Given the description of an element on the screen output the (x, y) to click on. 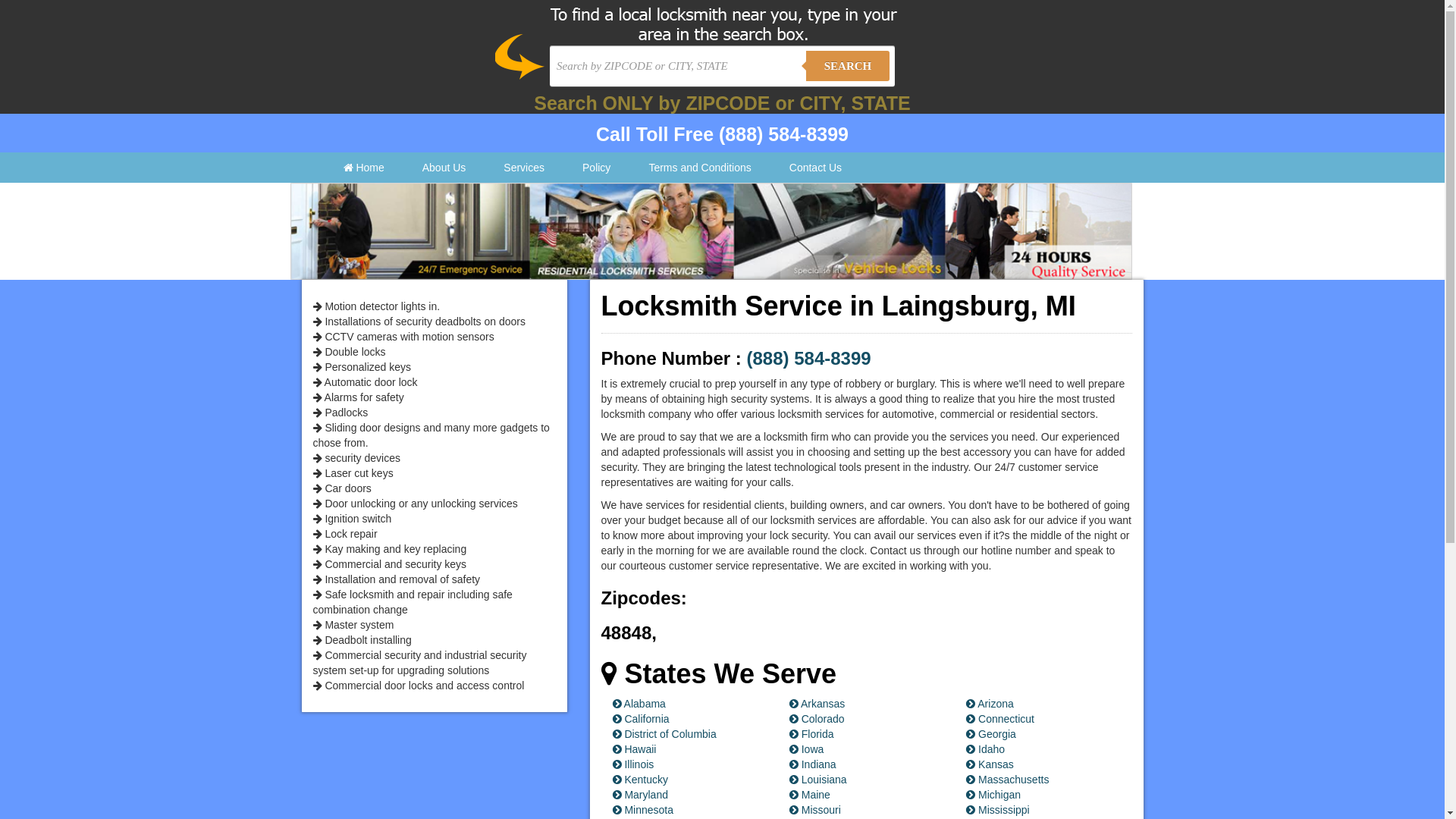
Terms and Conditions Element type: text (699, 167)
Louisiana Element type: text (818, 779)
Minnesota Element type: text (642, 809)
Massachusetts Element type: text (1007, 779)
Hawaii Element type: text (634, 749)
Connecticut Element type: text (1000, 718)
Idaho Element type: text (985, 749)
Contact Us Element type: text (815, 167)
(888) 584-8399 Element type: text (808, 358)
Illinois Element type: text (633, 764)
Georgia Element type: text (991, 734)
Alabama Element type: text (638, 703)
Maine Element type: text (809, 794)
About Us Element type: text (444, 167)
Michigan Element type: text (993, 794)
Services Element type: text (523, 167)
District of Columbia Element type: text (664, 734)
Call Toll Free (888) 584-8399 Element type: text (722, 132)
Home Element type: text (363, 167)
Colorado Element type: text (816, 718)
Florida Element type: text (811, 734)
California Element type: text (640, 718)
Iowa Element type: text (806, 749)
Indiana Element type: text (812, 764)
Kansas Element type: text (989, 764)
Policy Element type: text (596, 167)
Mississippi Element type: text (997, 809)
Missouri Element type: text (814, 809)
SEARCH Element type: text (847, 65)
Maryland Element type: text (640, 794)
Arizona Element type: text (989, 703)
Kentucky Element type: text (640, 779)
Arkansas Element type: text (816, 703)
